Given the description of an element on the screen output the (x, y) to click on. 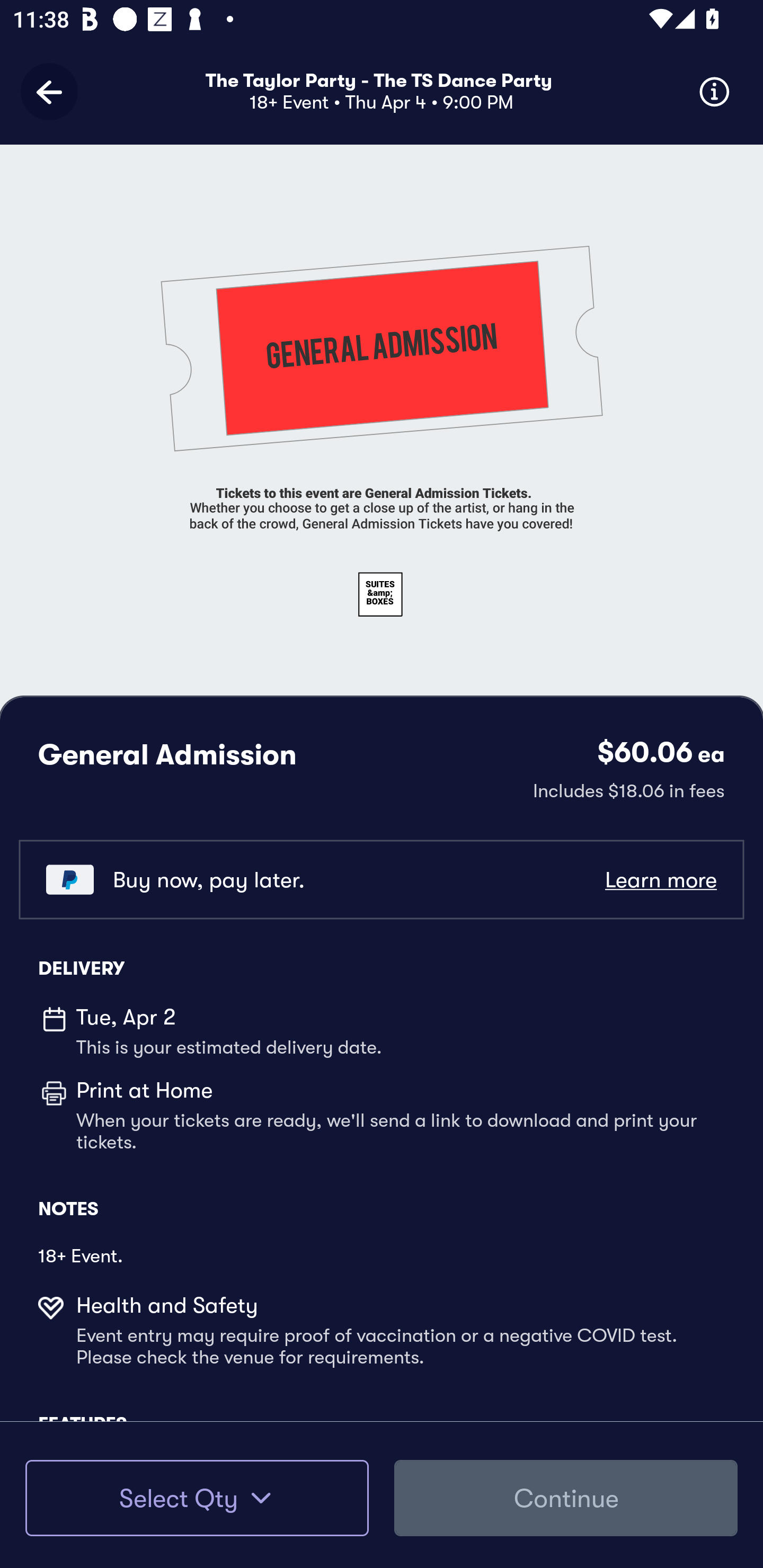
Learn more (660, 880)
Select Qty (196, 1497)
Continue (565, 1497)
